Given the description of an element on the screen output the (x, y) to click on. 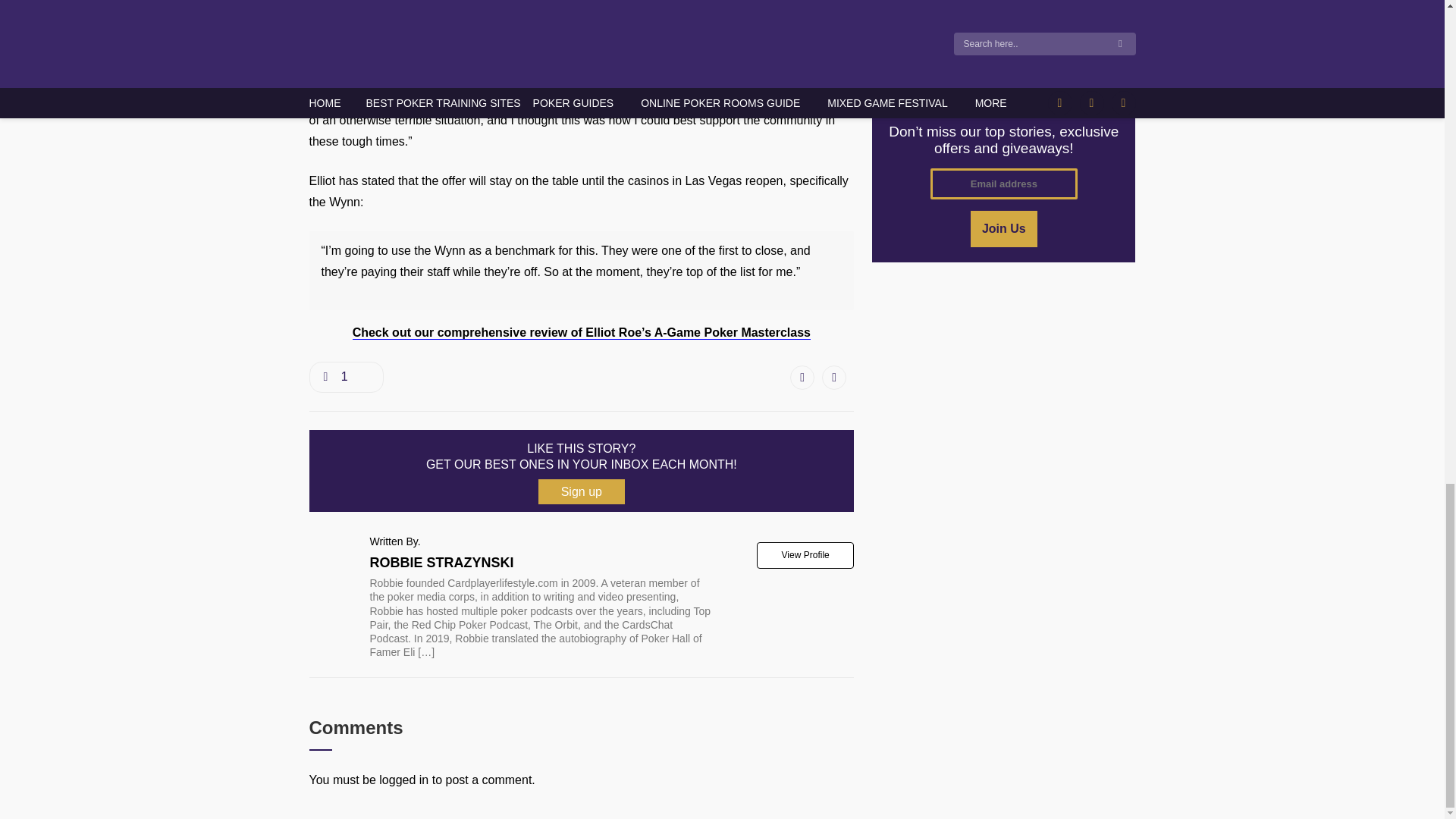
Join Us (1003, 228)
